Given the description of an element on the screen output the (x, y) to click on. 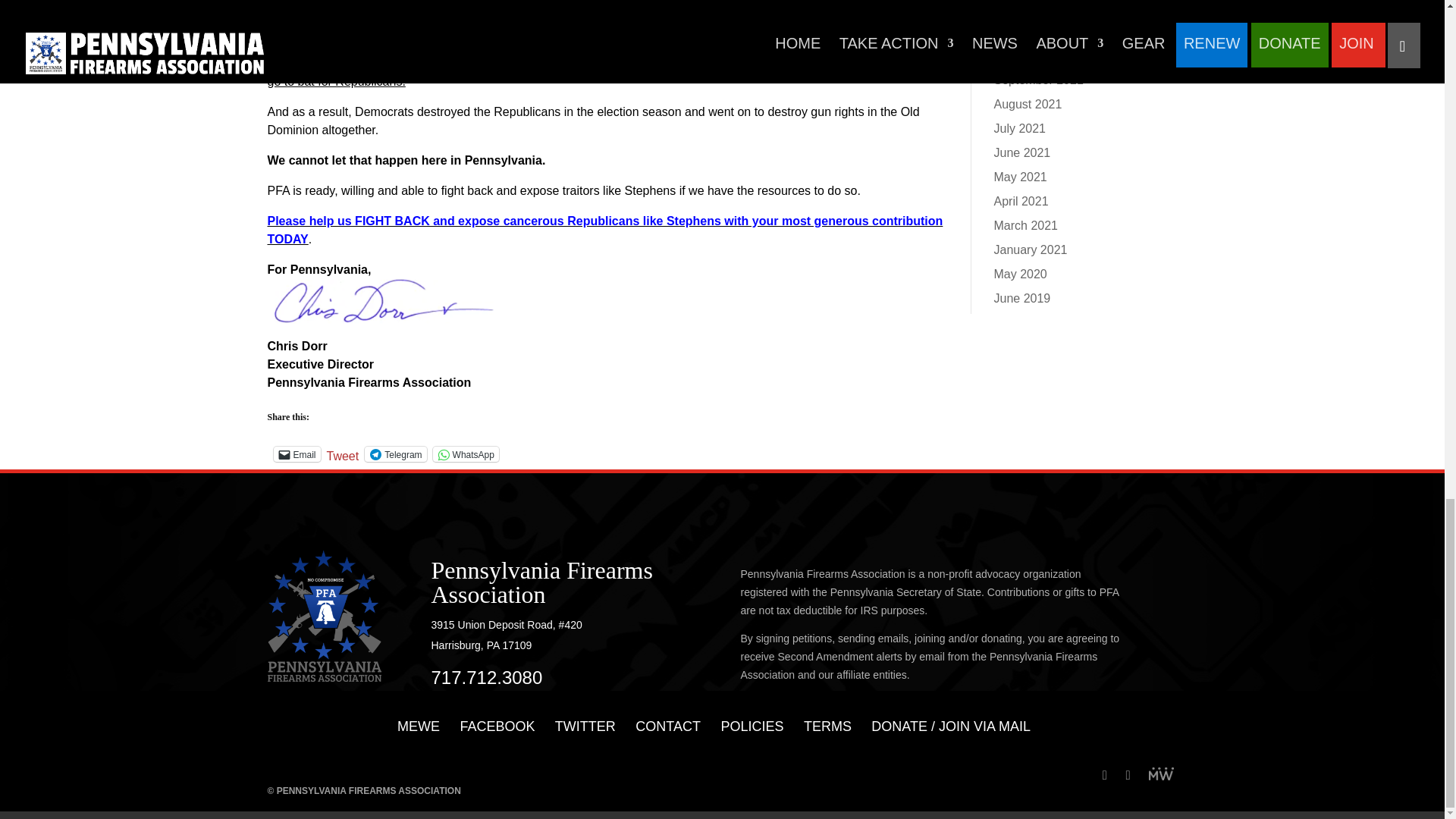
Click to share on Telegram (395, 453)
Click to share on WhatsApp (465, 453)
Click to email a link to a friend (296, 453)
